Given the description of an element on the screen output the (x, y) to click on. 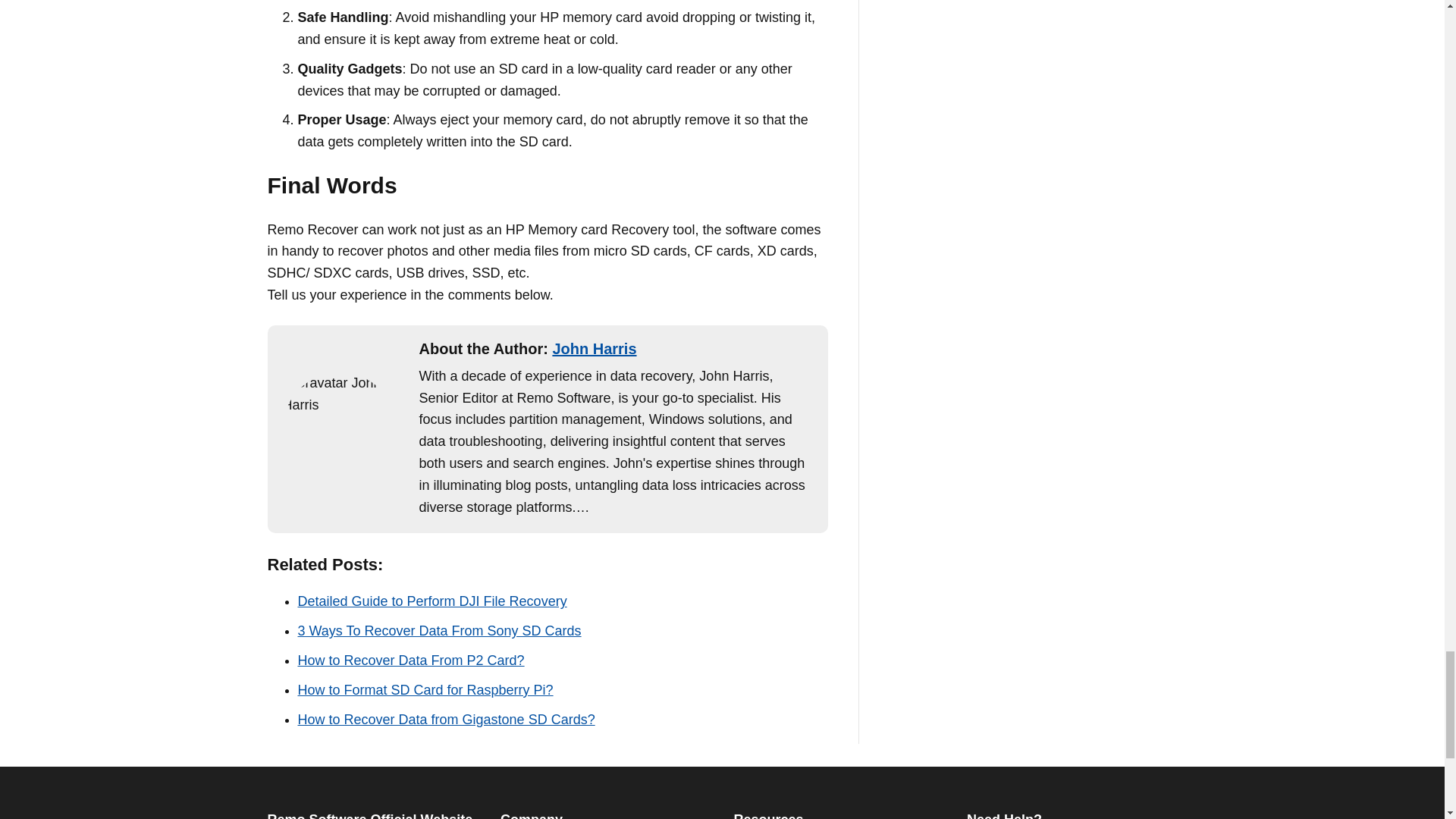
3 Ways To Recover Data From Sony SD Cards (438, 630)
How to Recover Data from Gigastone SD Cards? (445, 719)
Detailed Guide to Perform DJI File Recovery (431, 601)
Detailed Guide to Perform DJI File Recovery (431, 601)
How to Recover Data From P2 Card? (410, 660)
3 Ways To Recover Data From Sony SD Cards (438, 630)
How to Recover Data from Gigastone SD Cards? (445, 719)
How to Format SD Card for Raspberry Pi? (425, 689)
How to Format SD Card for Raspberry Pi? (425, 689)
John Harris (593, 348)
How to Recover Data From P2 Card? (410, 660)
